Given the description of an element on the screen output the (x, y) to click on. 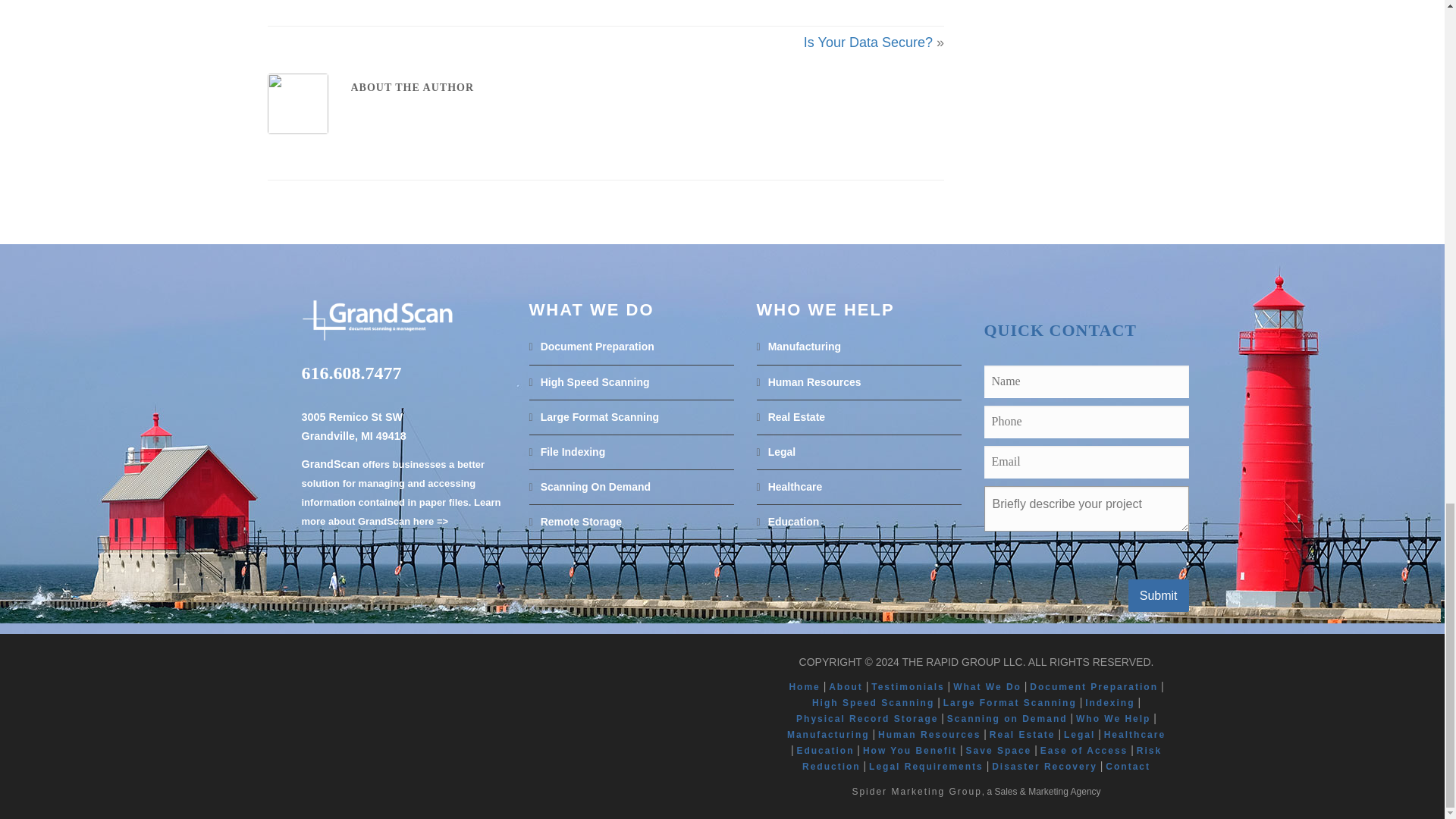
Submit (1158, 595)
